Given the description of an element on the screen output the (x, y) to click on. 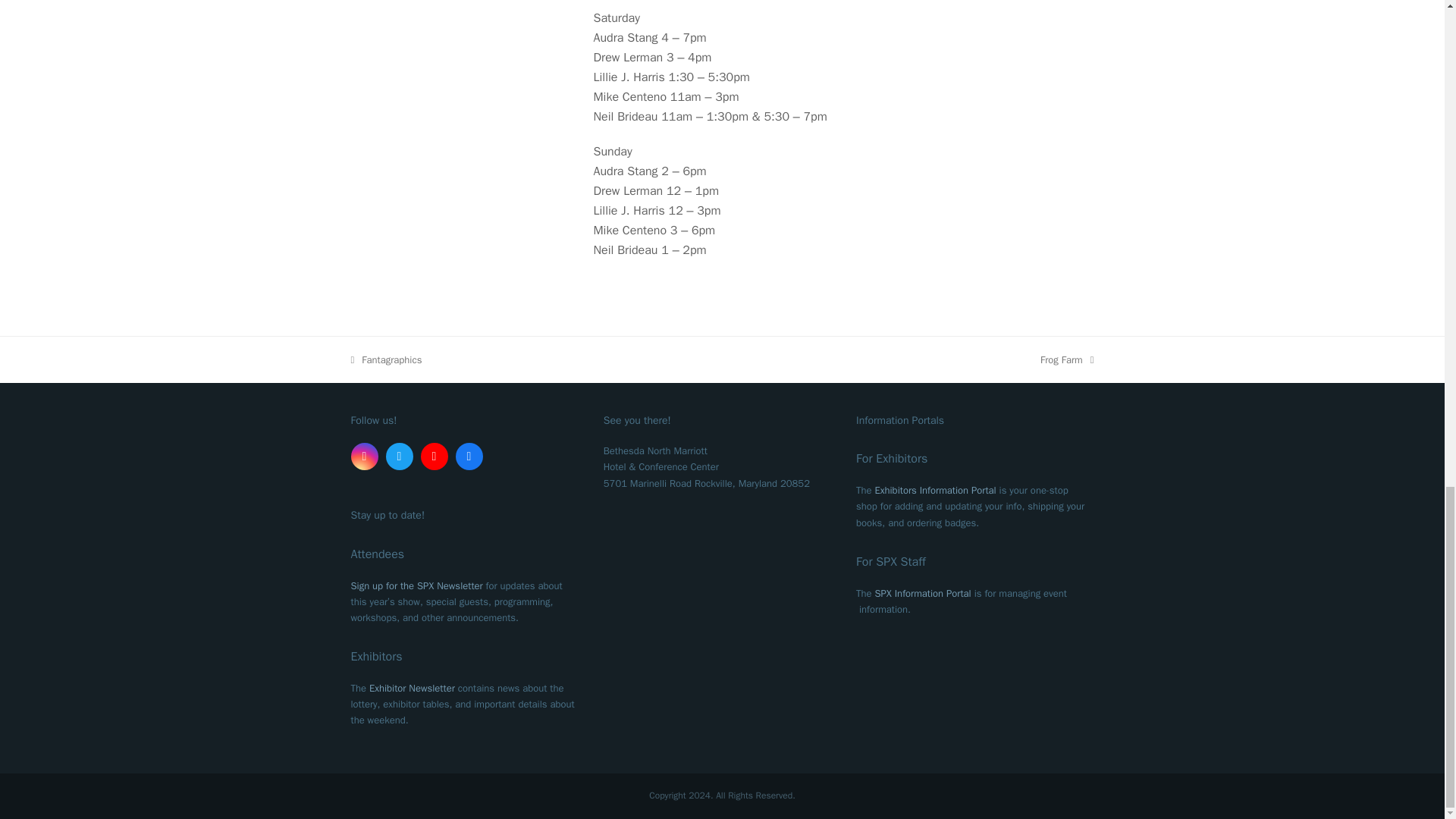
Facebook (467, 456)
Instagram (363, 456)
Exhibitor Newsletter (411, 687)
Exhibitors Information Portal (935, 490)
SIGN UP FOR THE SPX NEWSLETTER (415, 585)
Instagram (1067, 359)
SPX Information Portal (363, 456)
Twitter (923, 593)
YouTube (398, 456)
Google Map (433, 456)
Twitter (718, 619)
Sign up for the SPX Newsletter (398, 456)
Facebook (415, 585)
YouTube (467, 456)
